Given the description of an element on the screen output the (x, y) to click on. 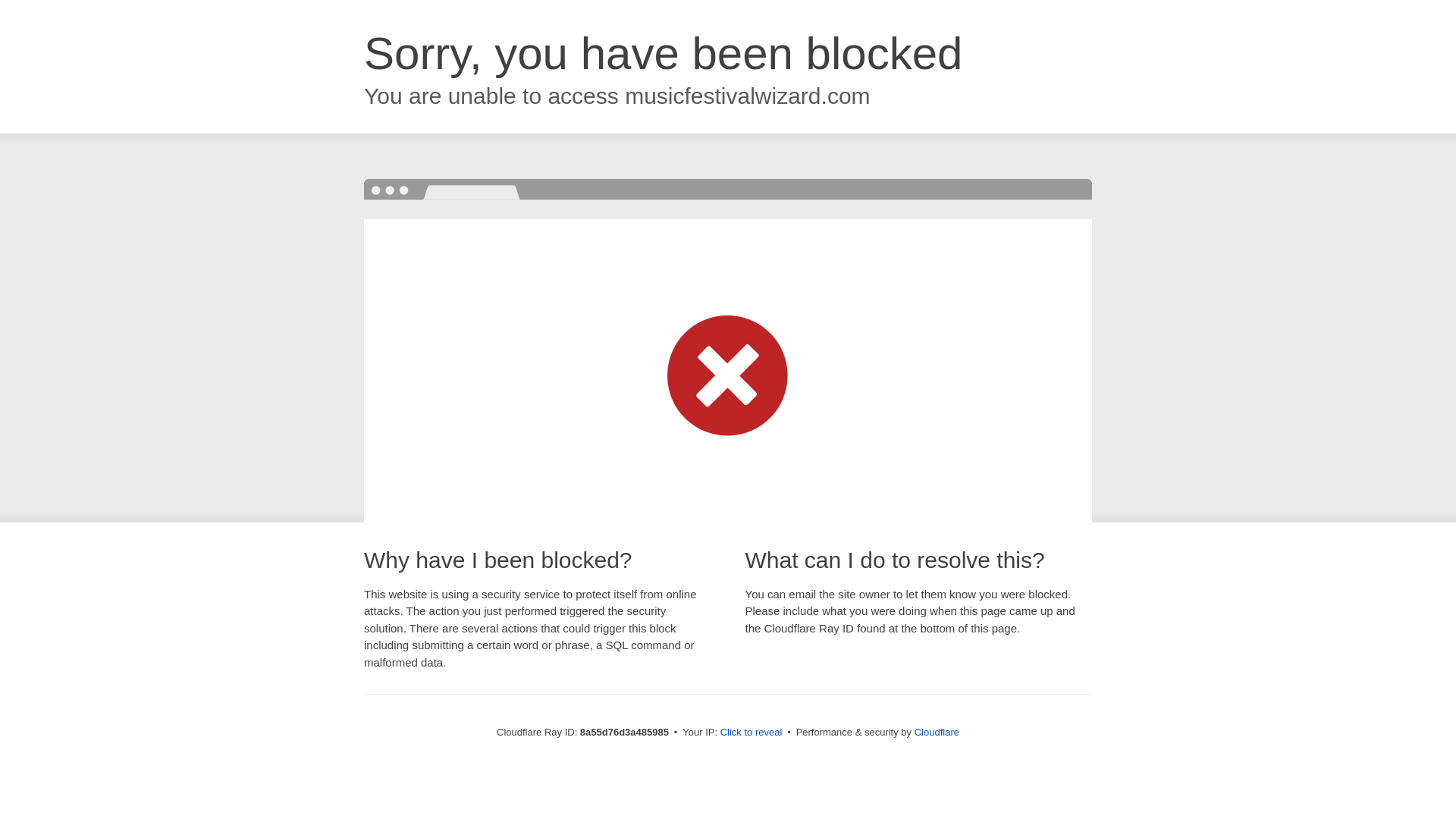
Cloudflare (936, 731)
Click to reveal (751, 732)
